Given the description of an element on the screen output the (x, y) to click on. 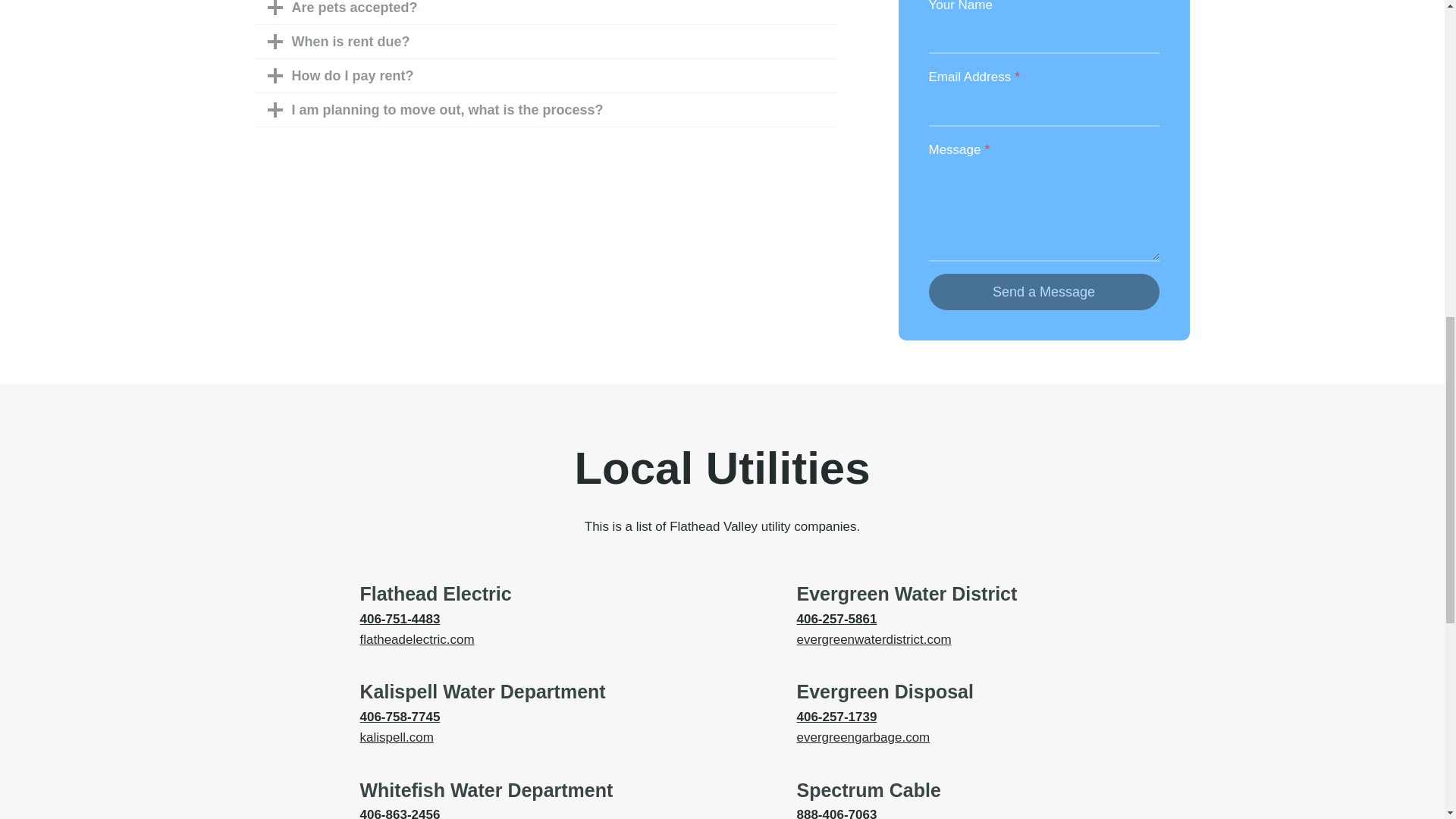
kalispell.com (395, 737)
406-751-4483 (399, 618)
888-406-7063 (836, 813)
406-257-5861 (836, 618)
Send a Message (1043, 291)
flatheadelectric.com (416, 639)
406-863-2456 (399, 813)
Are pets accepted? (545, 12)
evergreenwaterdistrict.com (873, 639)
406-758-7745 (399, 716)
